Given the description of an element on the screen output the (x, y) to click on. 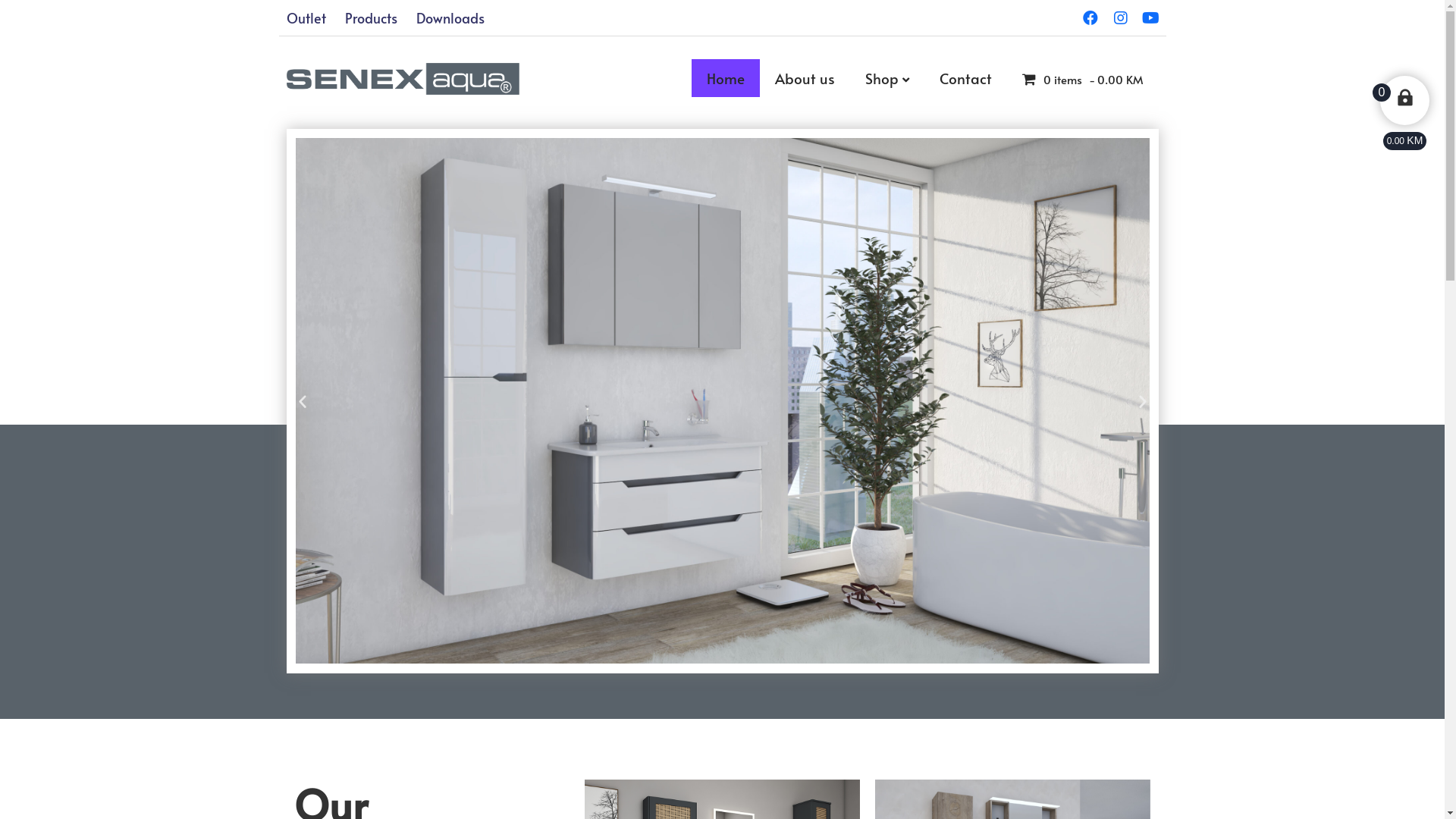
Outlet Element type: text (306, 17)
Contact Element type: text (965, 78)
Products Element type: text (370, 17)
Downloads Element type: text (449, 17)
0 items0.00 KM Element type: text (1082, 78)
About us Element type: text (804, 78)
Shop Element type: text (887, 78)
Home Element type: text (725, 78)
